Given the description of an element on the screen output the (x, y) to click on. 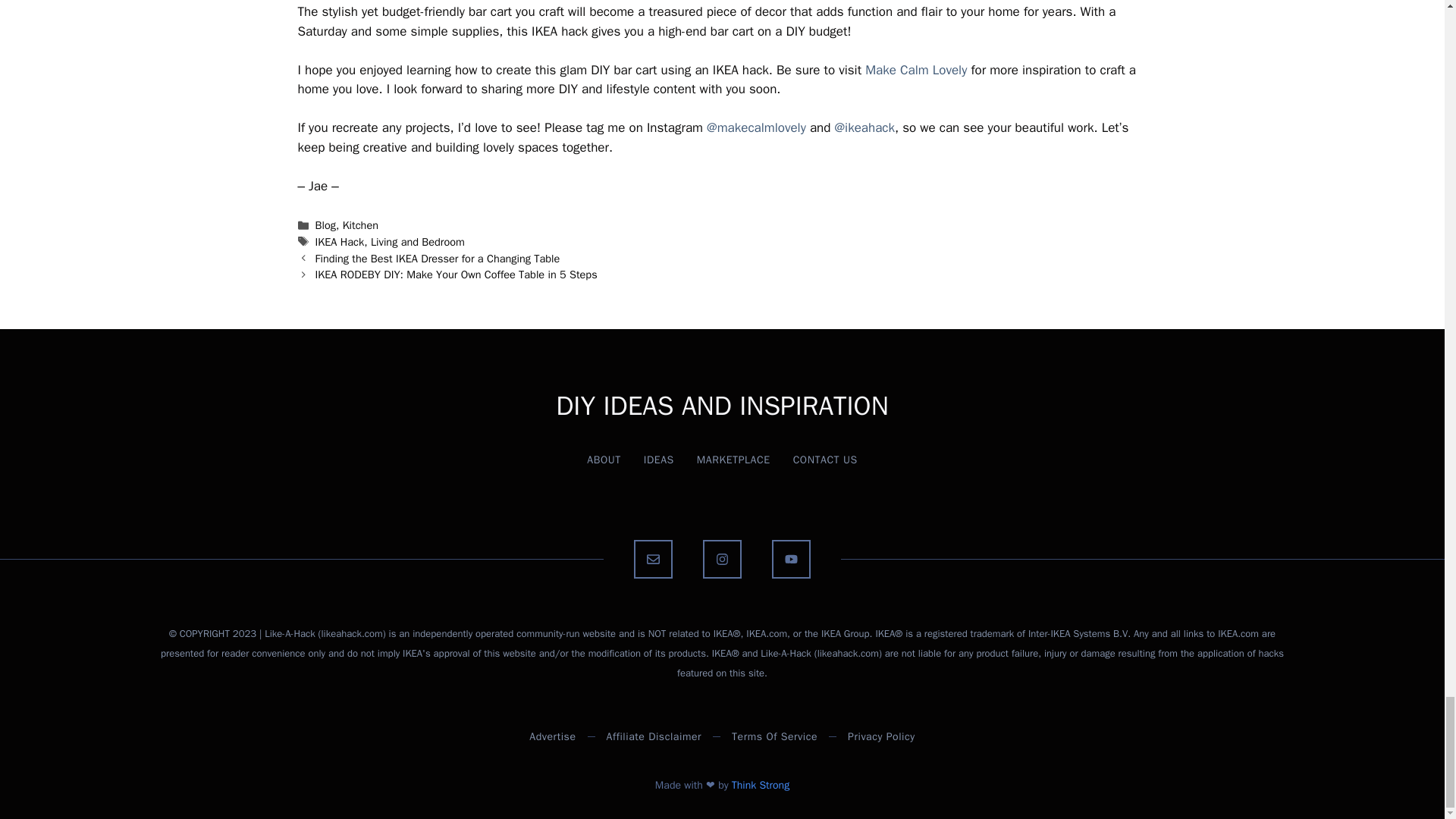
Advertise (552, 736)
Finding the Best IKEA Dresser for a Changing Table (437, 258)
Terms Of Service (774, 736)
ABOUT (603, 459)
Affiliate Disclaimer (654, 736)
IKEA RODEBY DIY: Make Your Own Coffee Table in 5 Steps (455, 274)
Kitchen (360, 224)
MARKETPLACE (733, 459)
CONTACT US (825, 459)
Think Strong (760, 784)
